Given the description of an element on the screen output the (x, y) to click on. 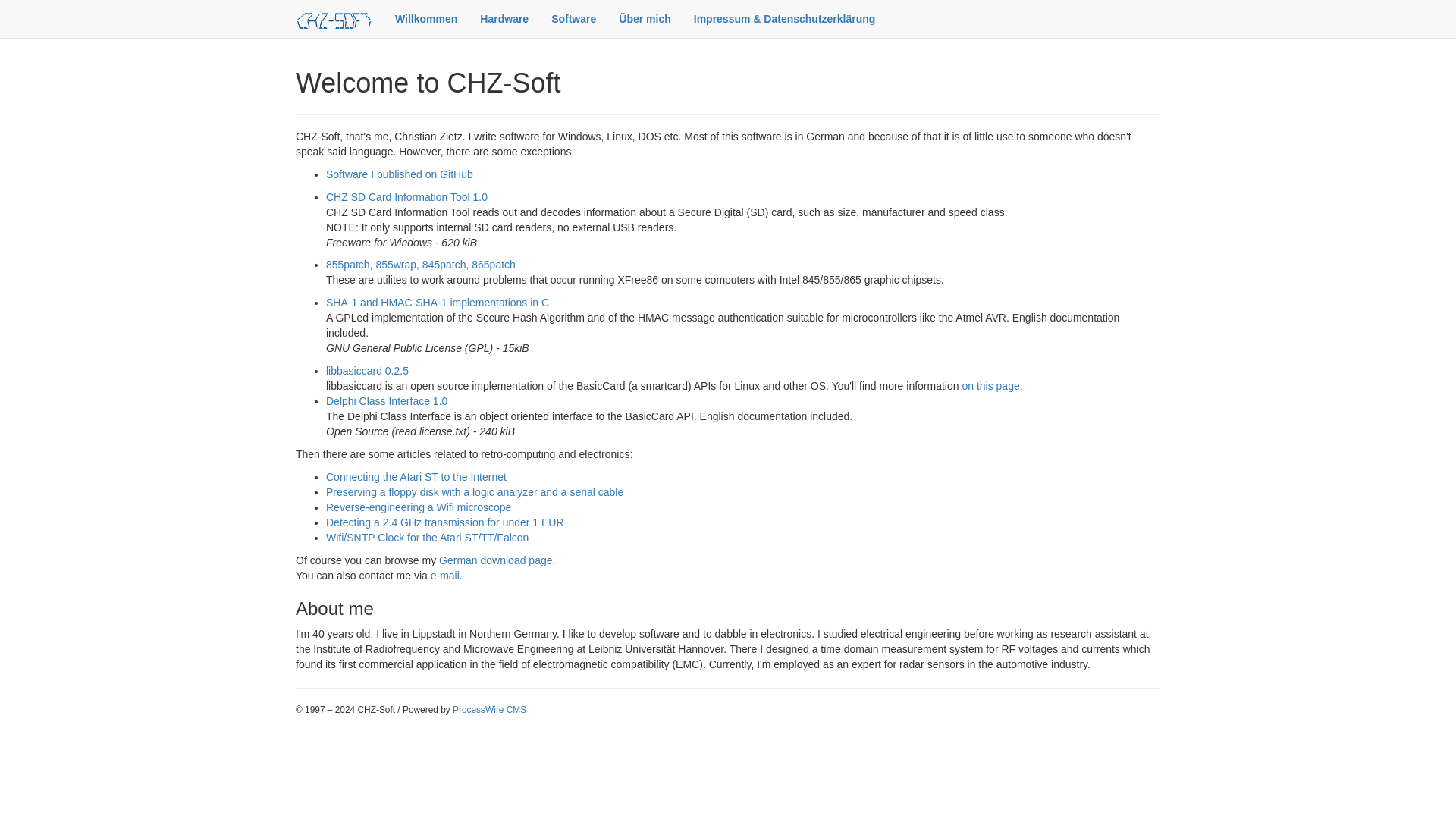
Delphi Class Interface 1.0 (386, 400)
Software (573, 18)
e-mail (445, 575)
German download page (495, 560)
Willkommen (426, 18)
Detecting a 2.4 GHz transmission for under 1 EUR (445, 522)
on this page (989, 386)
Connecting the Atari ST to the Internet (416, 476)
libbasiccard 0.2.5 (367, 370)
CHZ SD Card Information Tool 1.0 (406, 196)
